Given the description of an element on the screen output the (x, y) to click on. 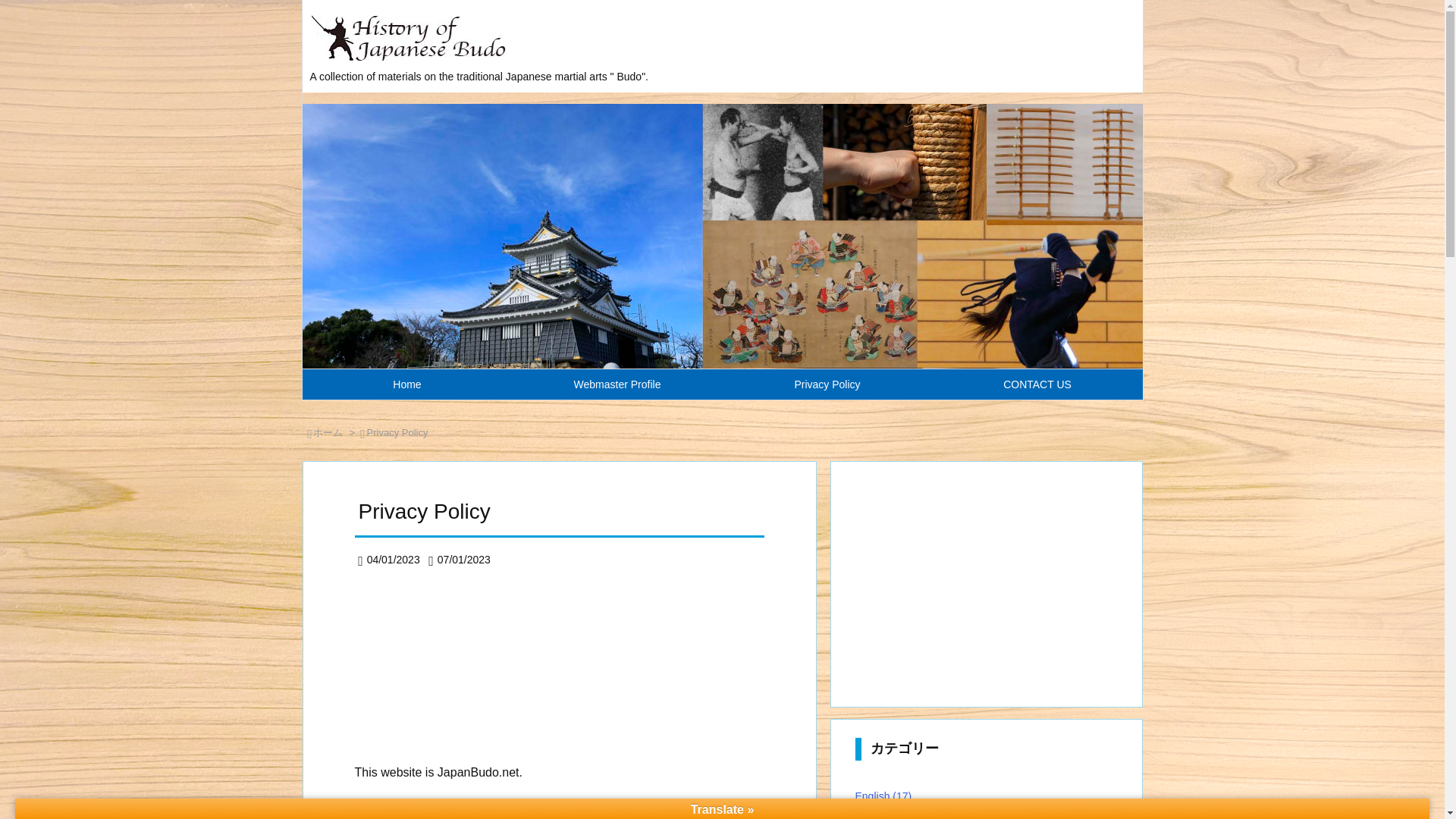
Home (406, 384)
Privacy Policy (826, 384)
Advertisement (987, 582)
CONTACT US (1037, 384)
Advertisement (612, 673)
Privacy Policy (397, 432)
Webmaster Profile (617, 384)
